Given the description of an element on the screen output the (x, y) to click on. 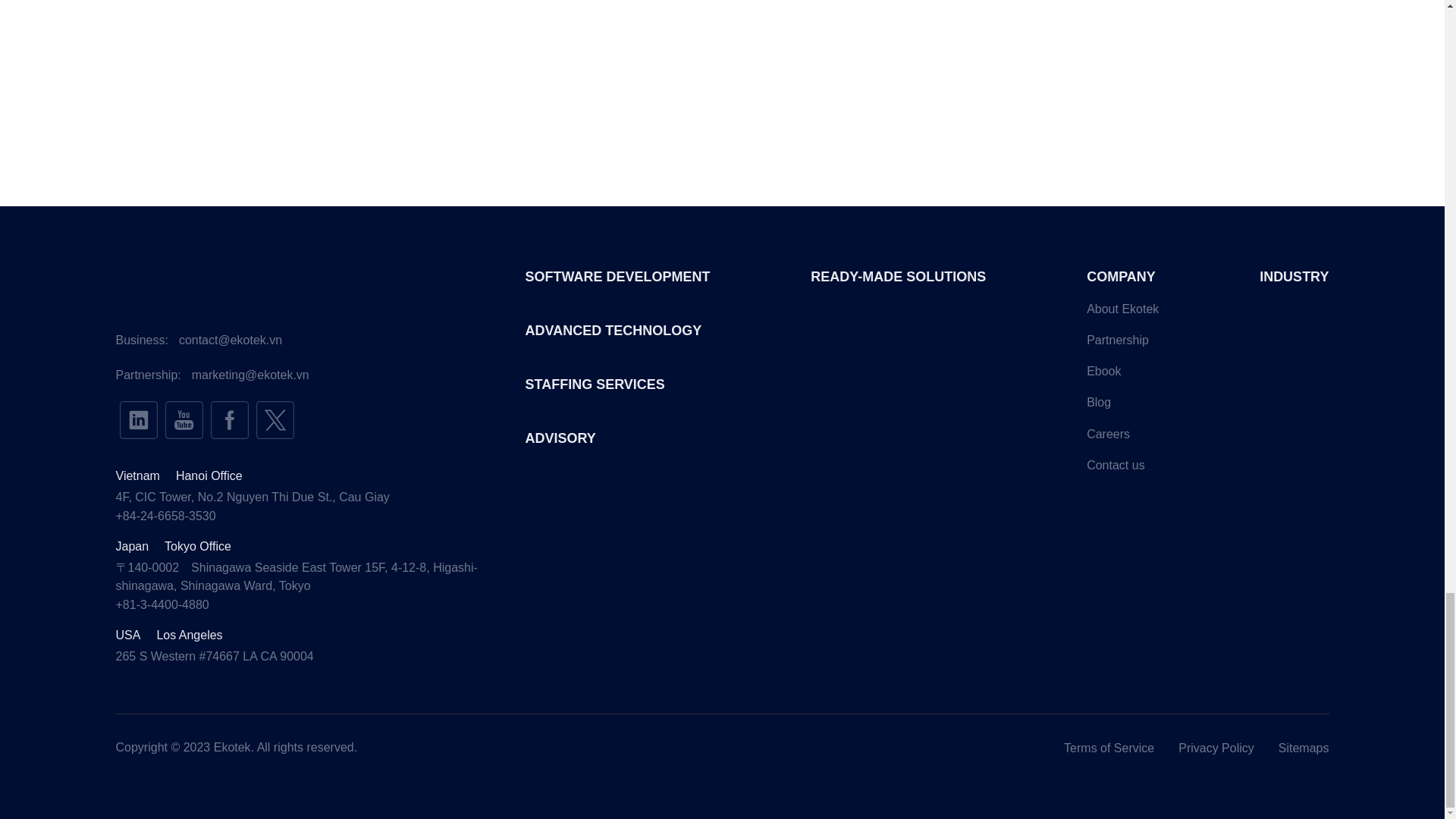
Contact us (1115, 464)
Blog (1098, 401)
Sitemaps (1303, 748)
Privacy Policy (1215, 748)
Careers (1107, 433)
About Ekotek (1122, 308)
Partnership (1117, 339)
Ekotek (232, 747)
Terms of Service (1109, 748)
Ebook (1103, 370)
